Given the description of an element on the screen output the (x, y) to click on. 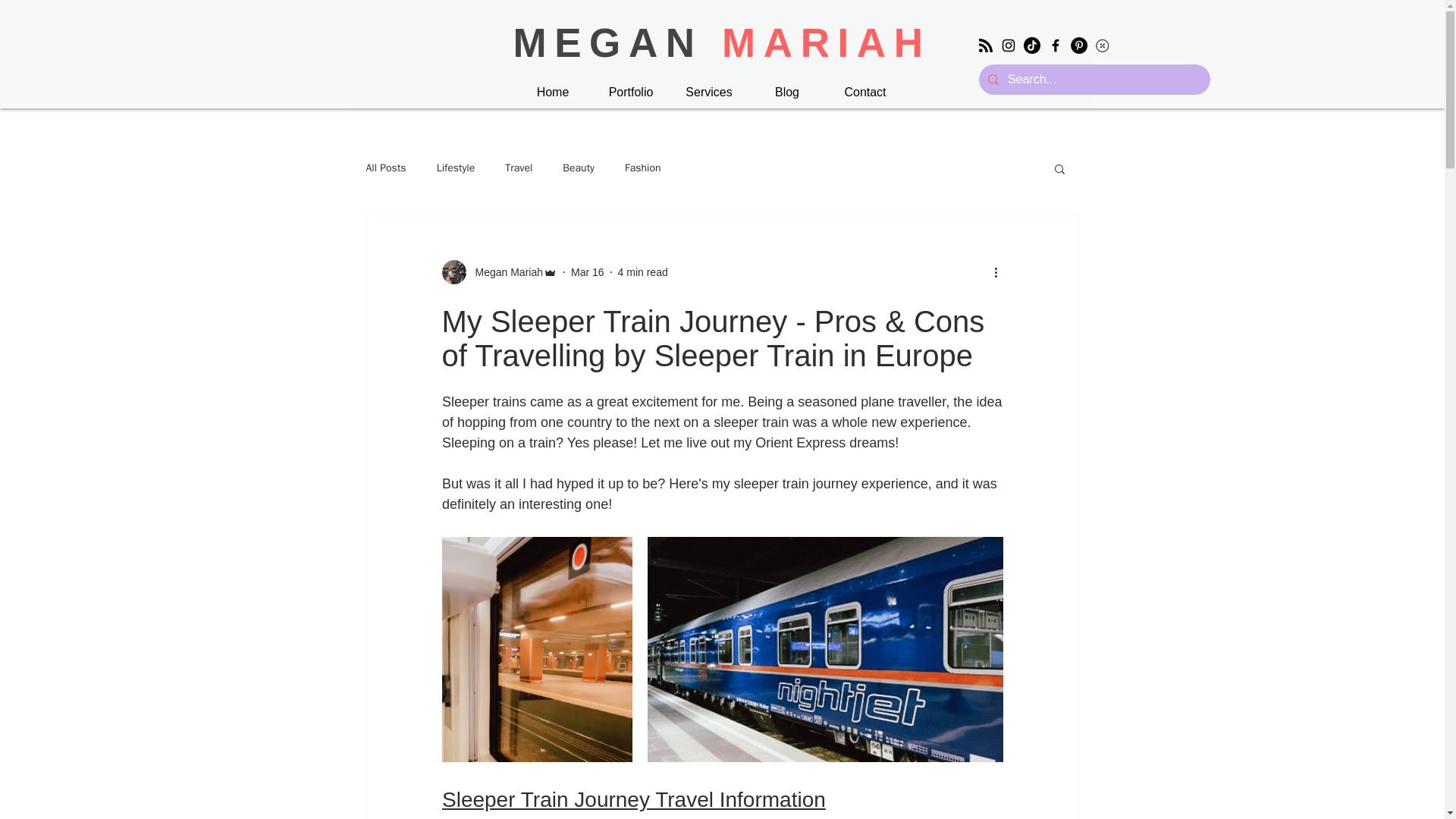
Contact (865, 92)
Travel (518, 168)
Beauty (578, 168)
Fashion (642, 168)
4 min read (642, 271)
Home (552, 92)
MEGAN (617, 42)
Lifestyle (456, 168)
Mar 16 (587, 271)
Portfolio (630, 92)
